Given the description of an element on the screen output the (x, y) to click on. 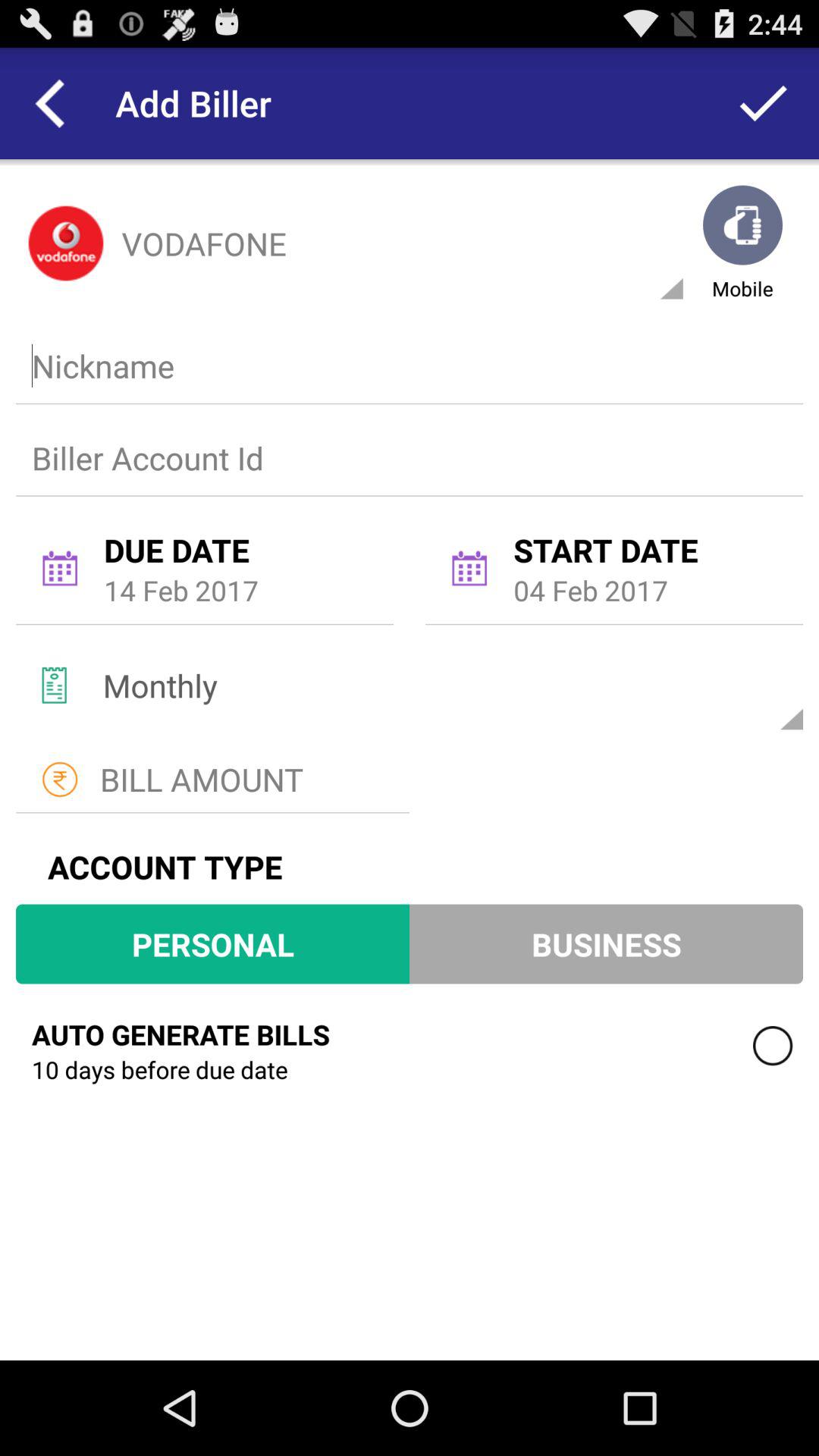
click item to the right of personal icon (606, 943)
